Given the description of an element on the screen output the (x, y) to click on. 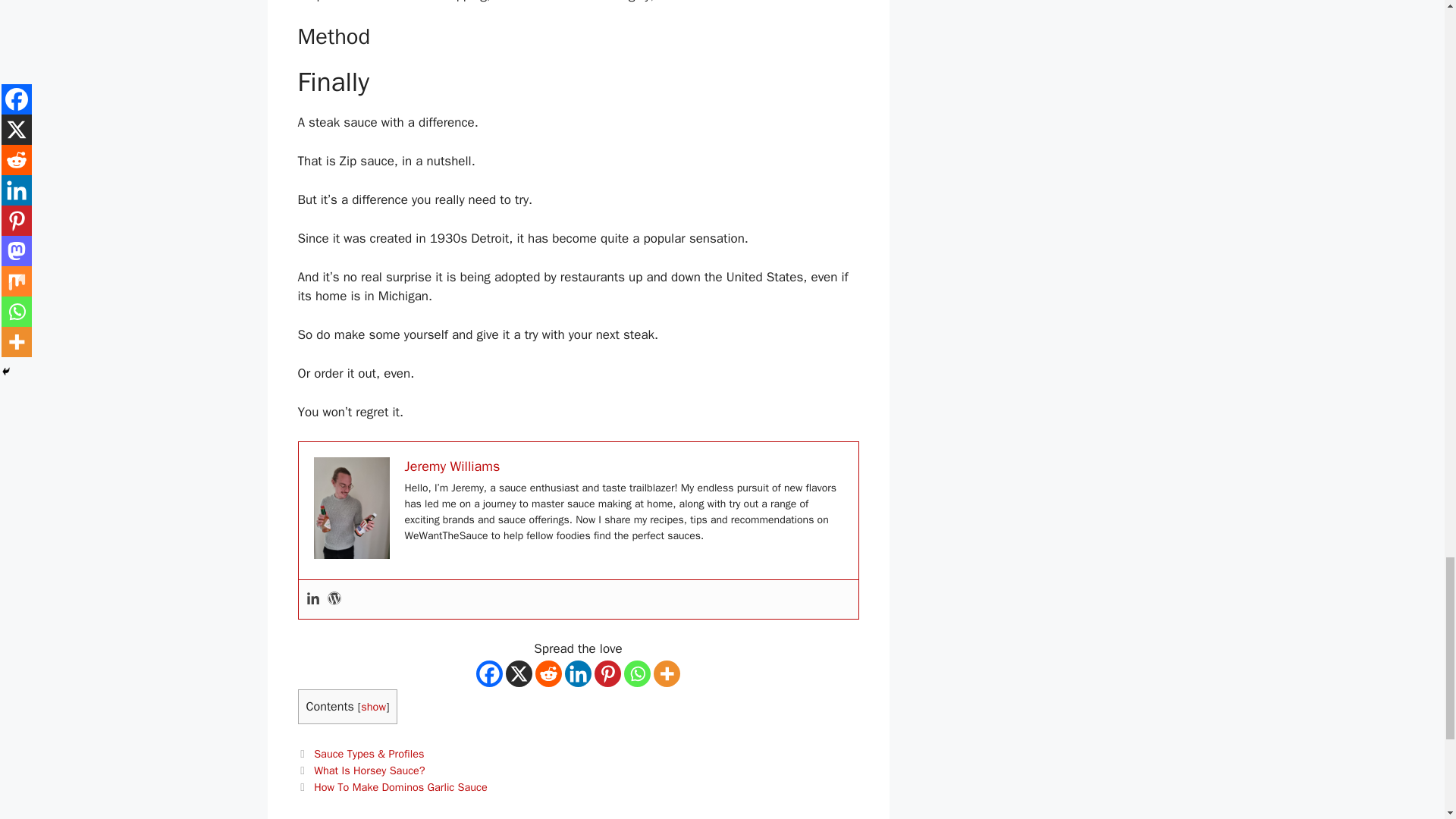
X (518, 673)
Facebook (489, 673)
Reddit (548, 673)
